Given the description of an element on the screen output the (x, y) to click on. 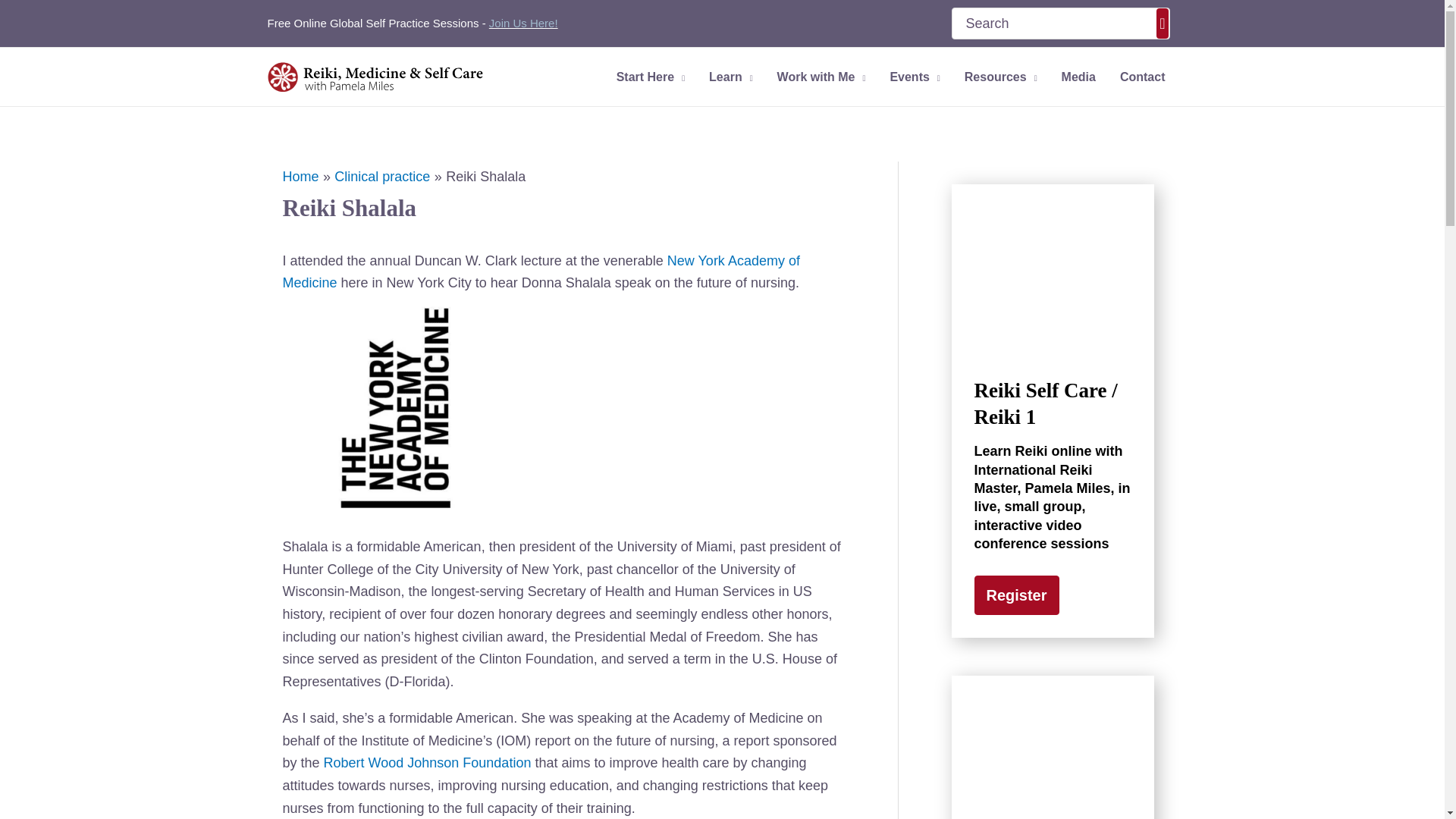
Learn (731, 77)
Start Here (650, 77)
Work with Me (821, 77)
Events (914, 77)
Join Us Here! (523, 22)
